Given the description of an element on the screen output the (x, y) to click on. 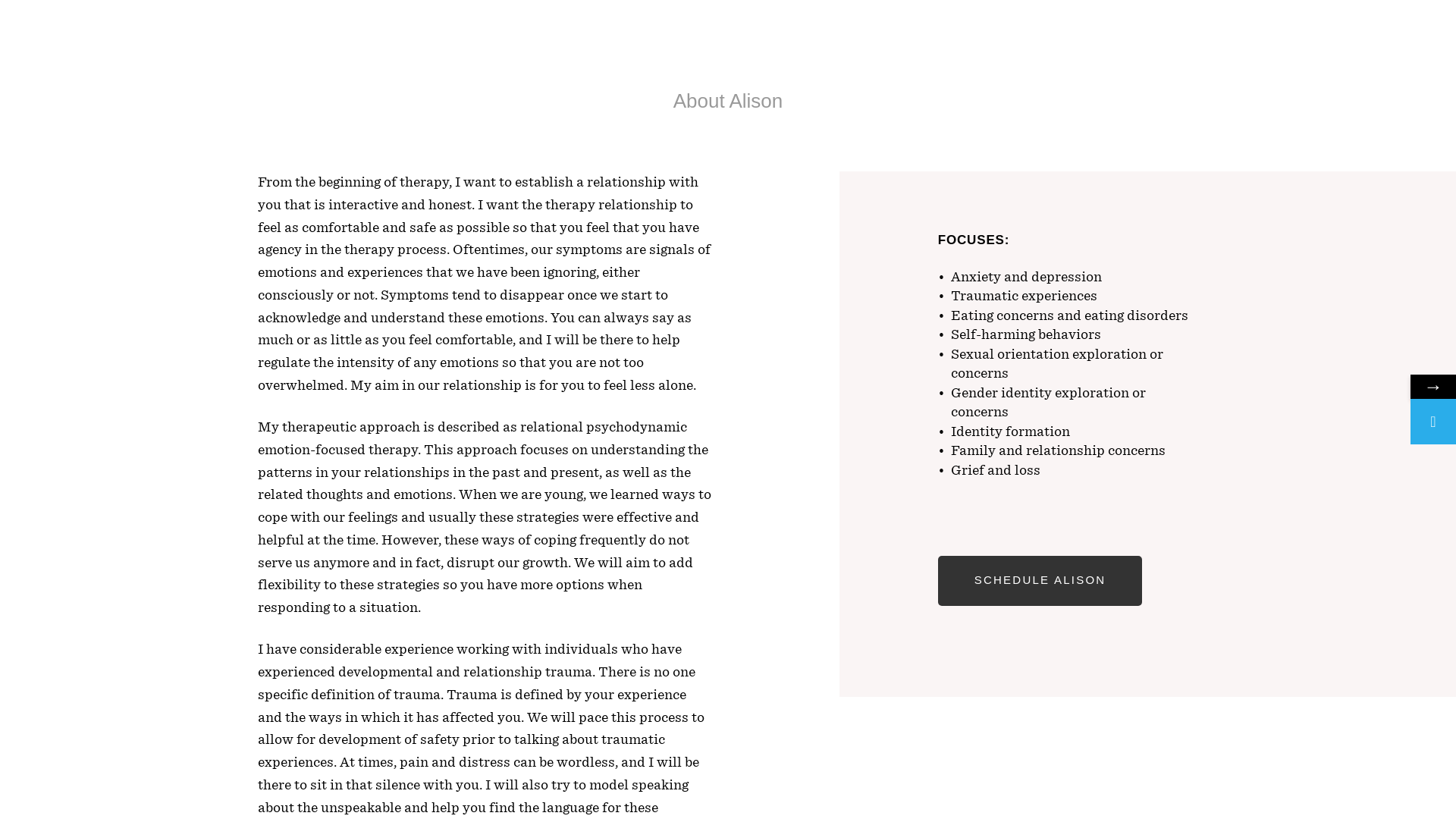
SCHEDULE ALISON (1039, 581)
